Given the description of an element on the screen output the (x, y) to click on. 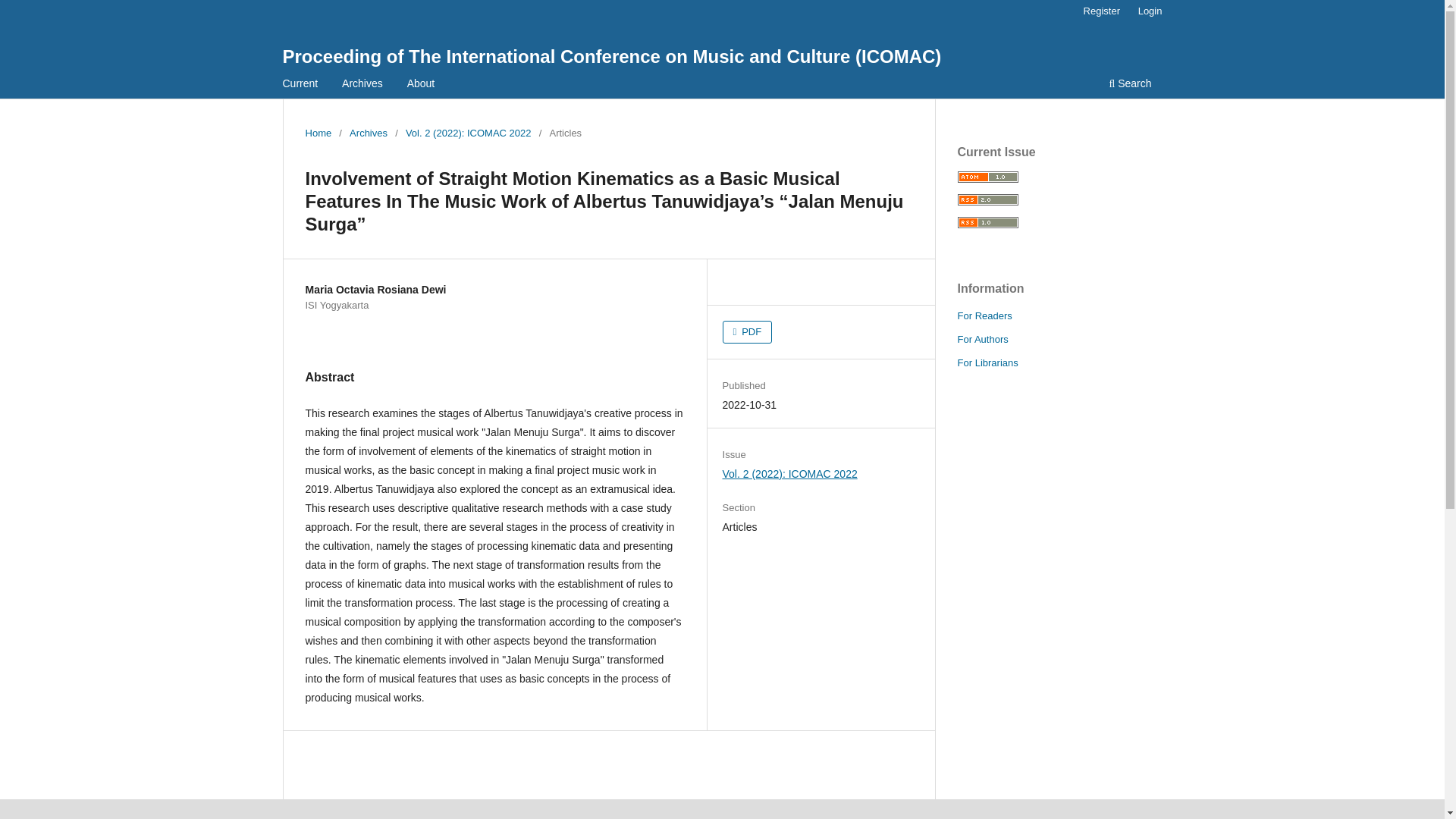
Search (1129, 85)
For Librarians (986, 362)
Login (1150, 11)
Home (317, 133)
Current (300, 85)
About (421, 85)
For Readers (983, 315)
PDF (747, 332)
Archives (362, 85)
Archives (368, 133)
Register (1100, 11)
For Authors (981, 338)
